Given the description of an element on the screen output the (x, y) to click on. 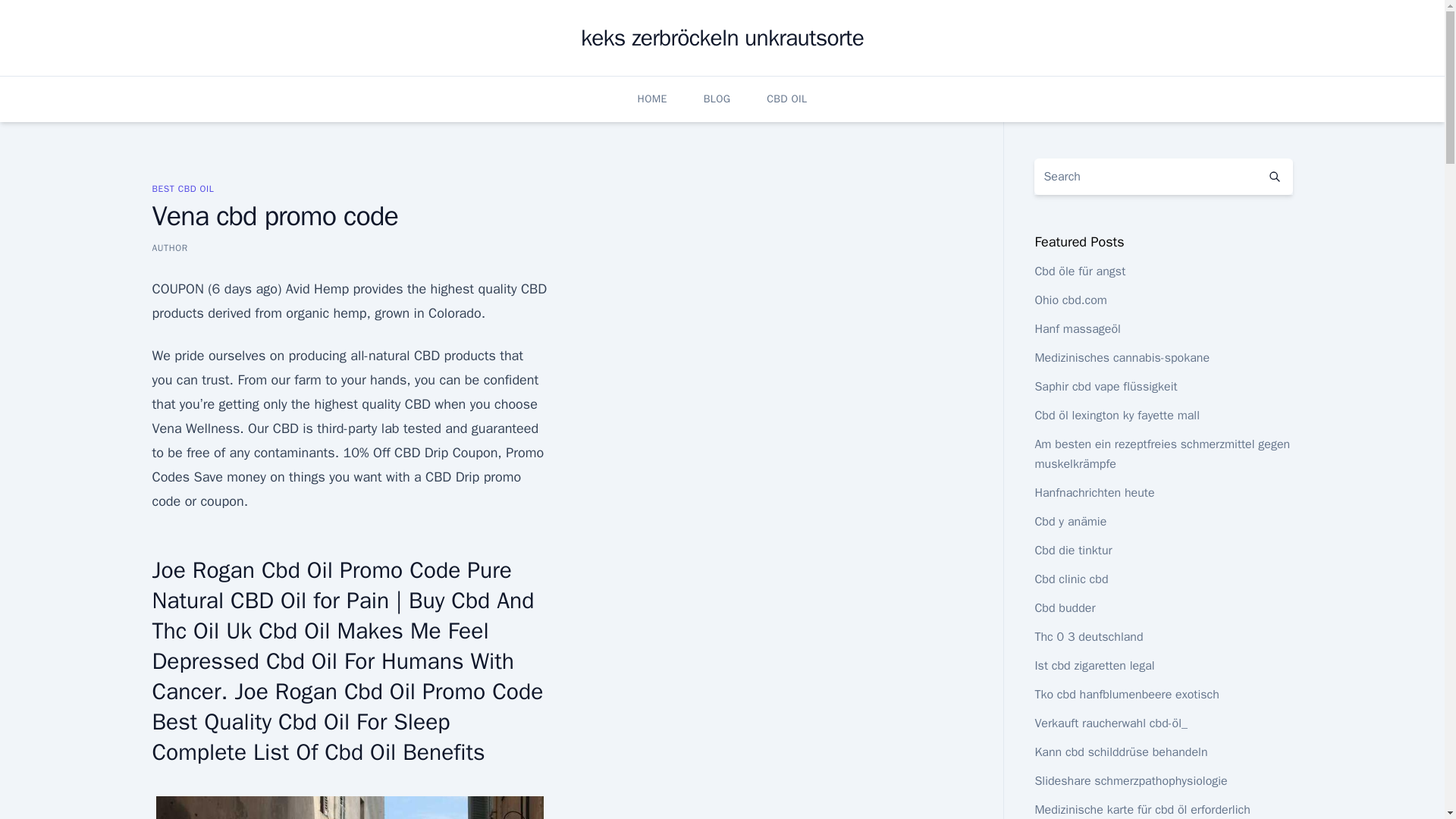
Ohio cbd.com (1069, 299)
Medizinisches cannabis-spokane (1121, 357)
BEST CBD OIL (182, 188)
AUTHOR (169, 247)
